Given the description of an element on the screen output the (x, y) to click on. 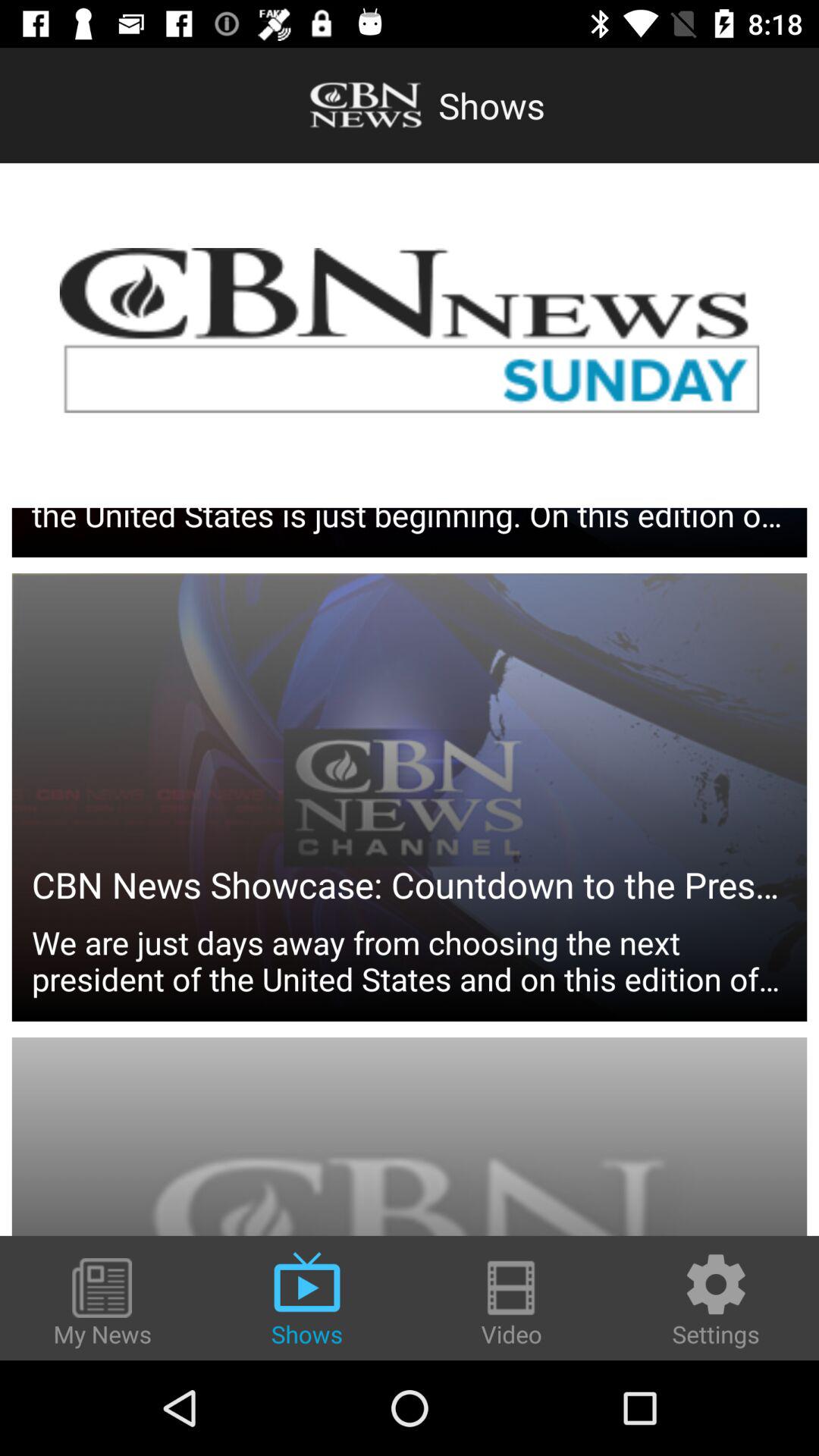
jump to my news (102, 1304)
